Given the description of an element on the screen output the (x, y) to click on. 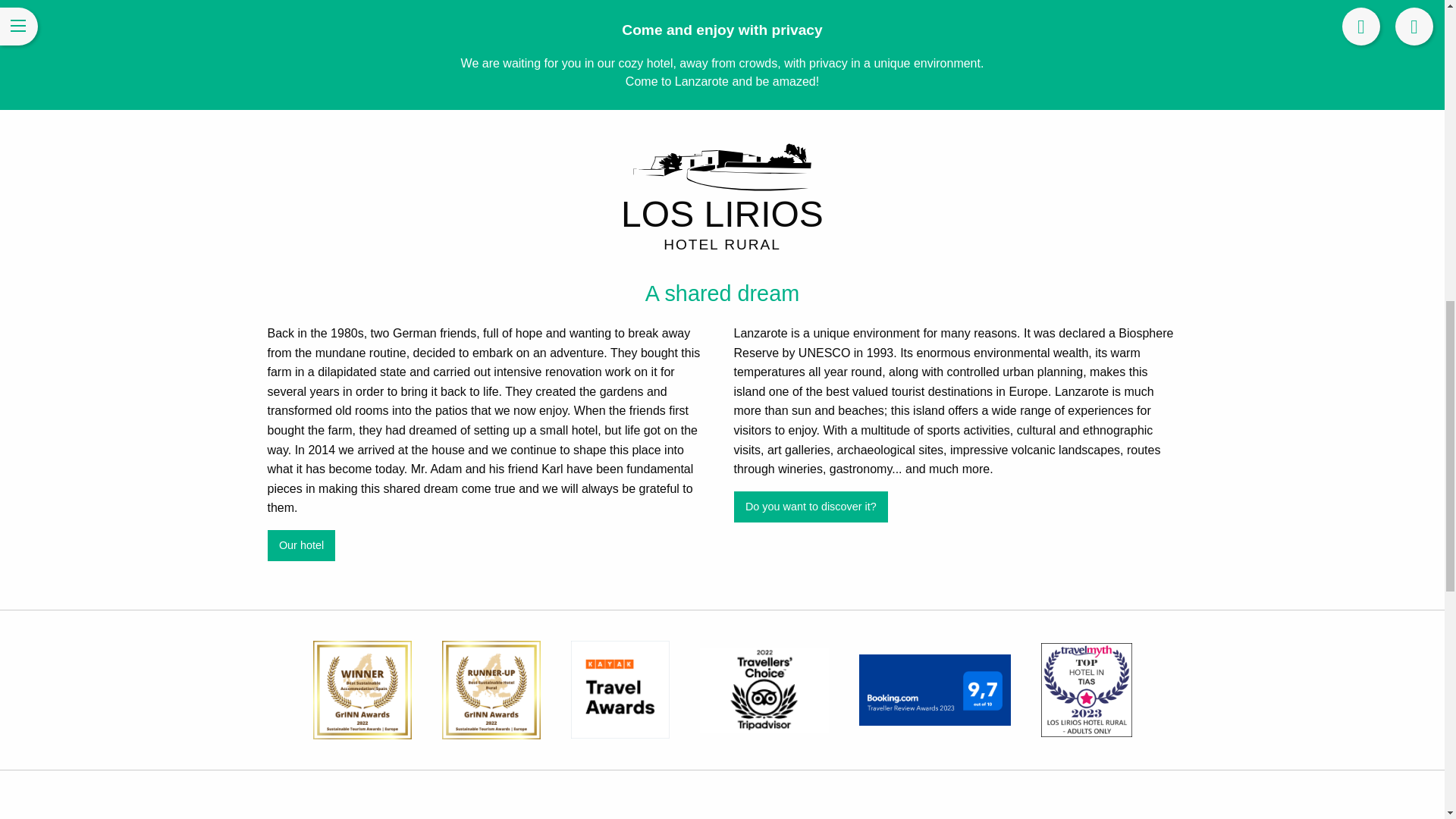
Do you want to discover it? (810, 506)
Our hotel (300, 545)
